Given the description of an element on the screen output the (x, y) to click on. 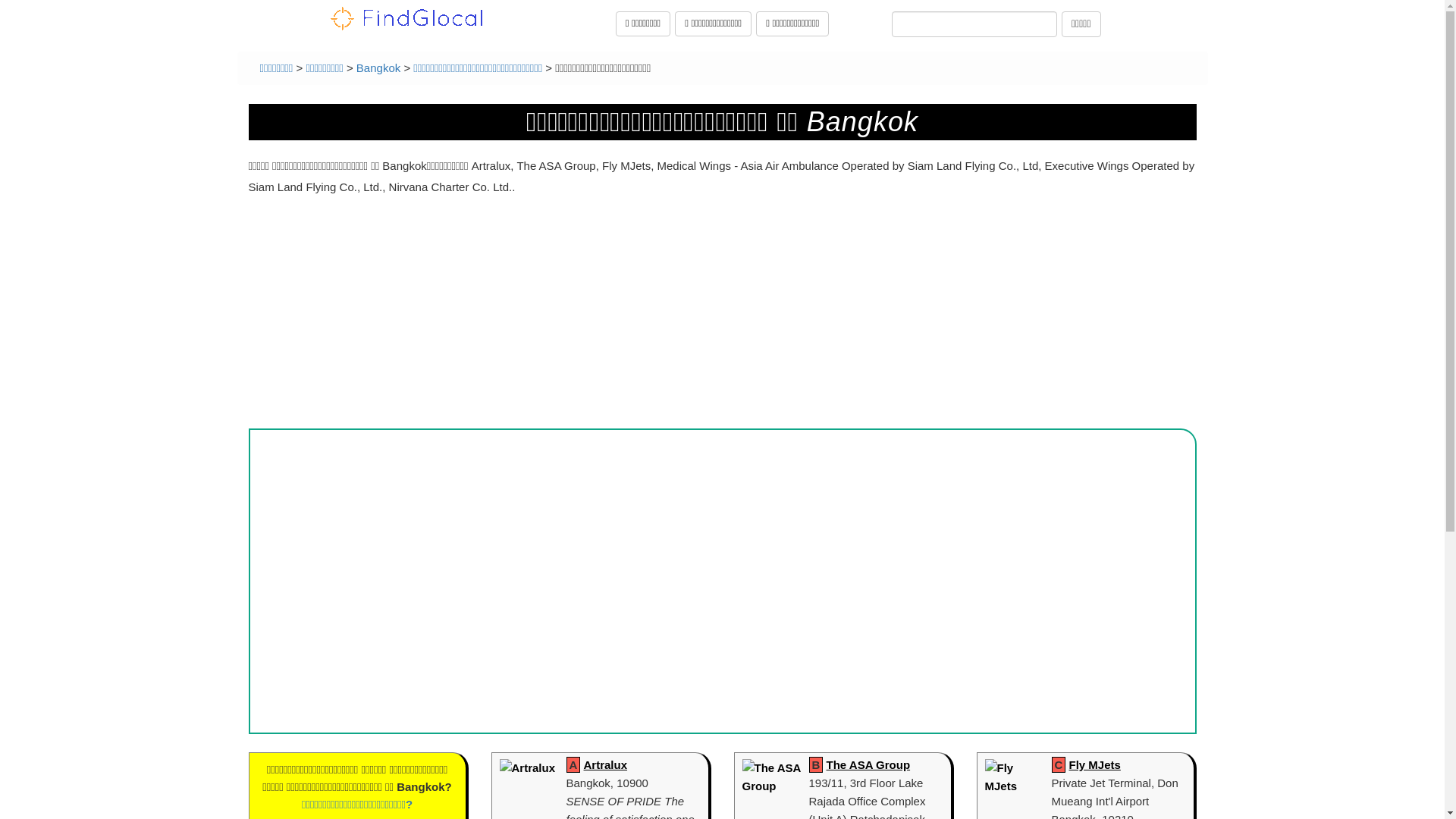
Bangkok (378, 67)
Artralux (605, 764)
Fly MJets (1094, 764)
The ASA Group (869, 764)
